Given the description of an element on the screen output the (x, y) to click on. 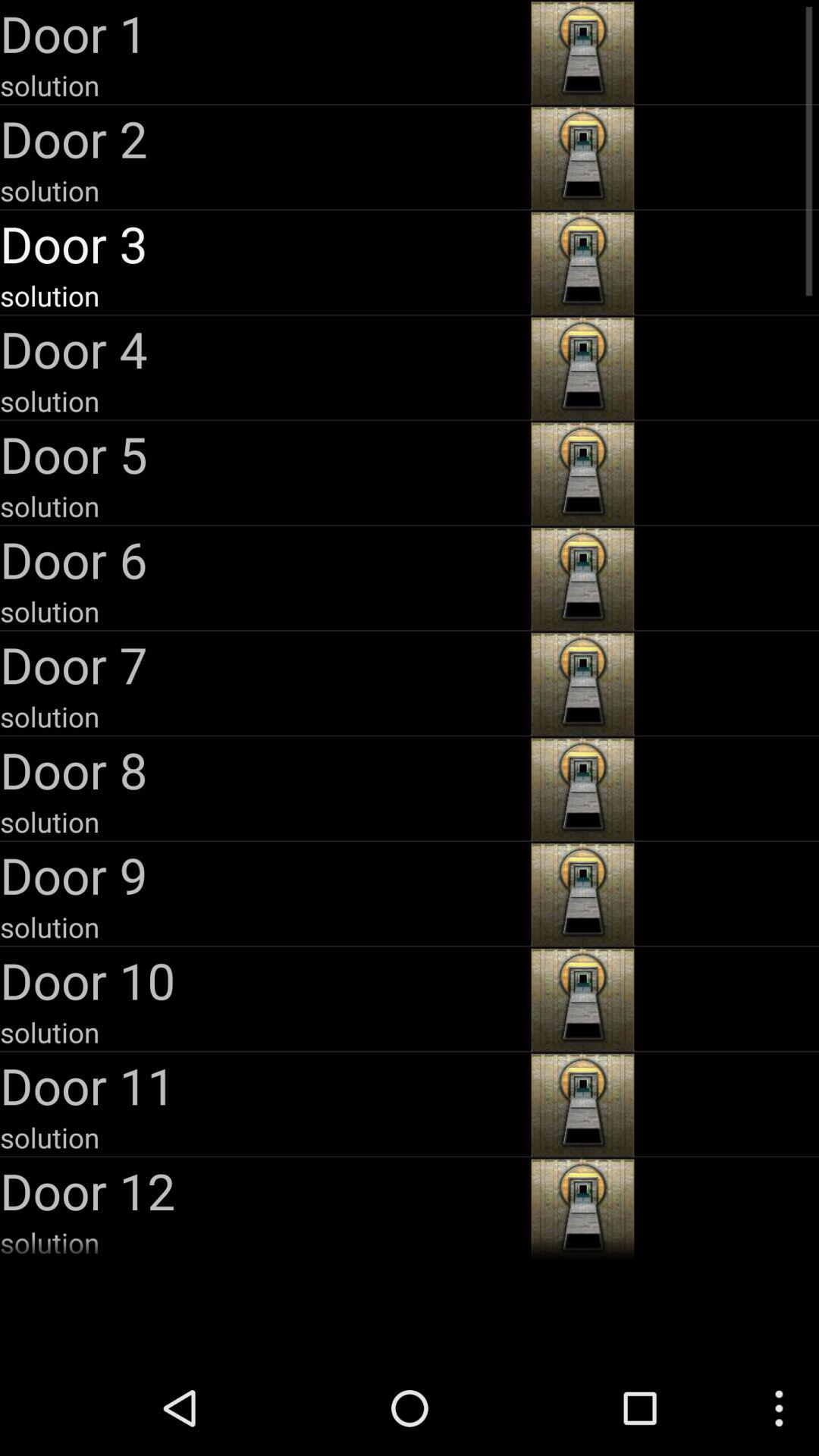
open the app above solution (263, 874)
